Given the description of an element on the screen output the (x, y) to click on. 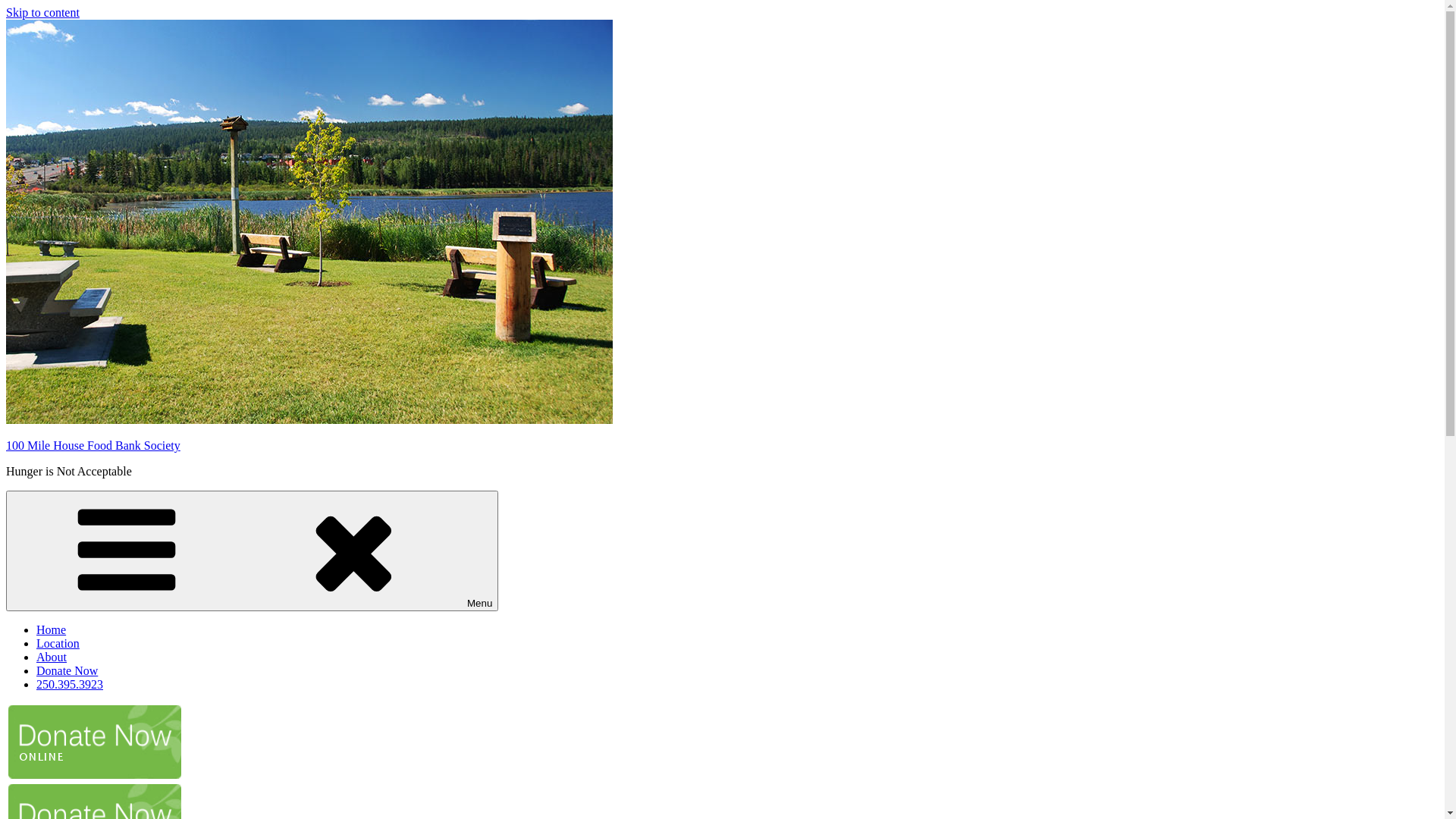
Skip to content Element type: text (42, 12)
Donate Now Element type: text (66, 670)
About Element type: text (51, 656)
Menu Element type: text (252, 550)
Home Element type: text (50, 629)
Location Element type: text (57, 643)
250.395.3923 Element type: text (69, 683)
100 Mile House Food Bank Society Element type: text (93, 445)
